Given the description of an element on the screen output the (x, y) to click on. 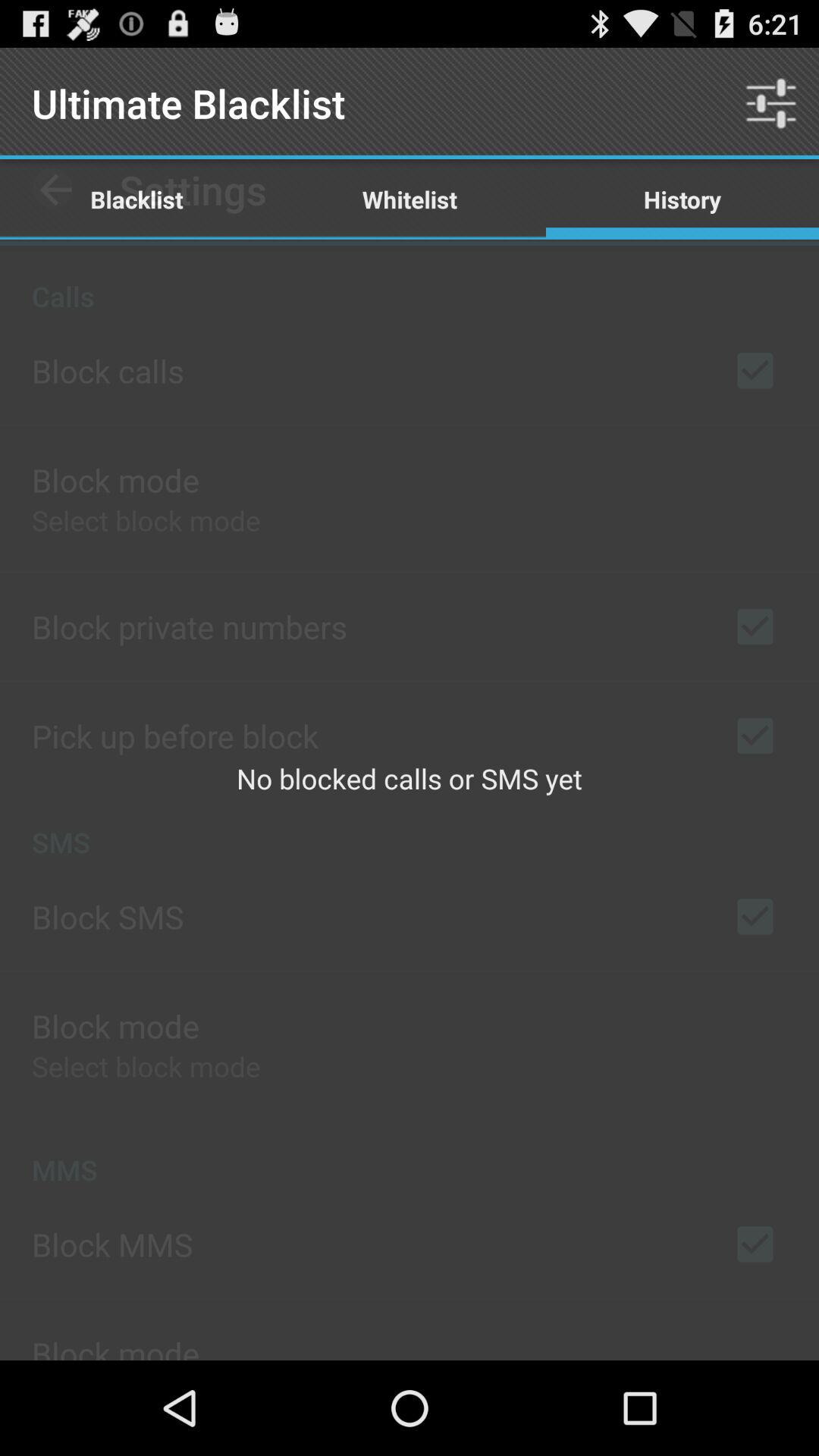
tap the item next to blacklist item (409, 199)
